Given the description of an element on the screen output the (x, y) to click on. 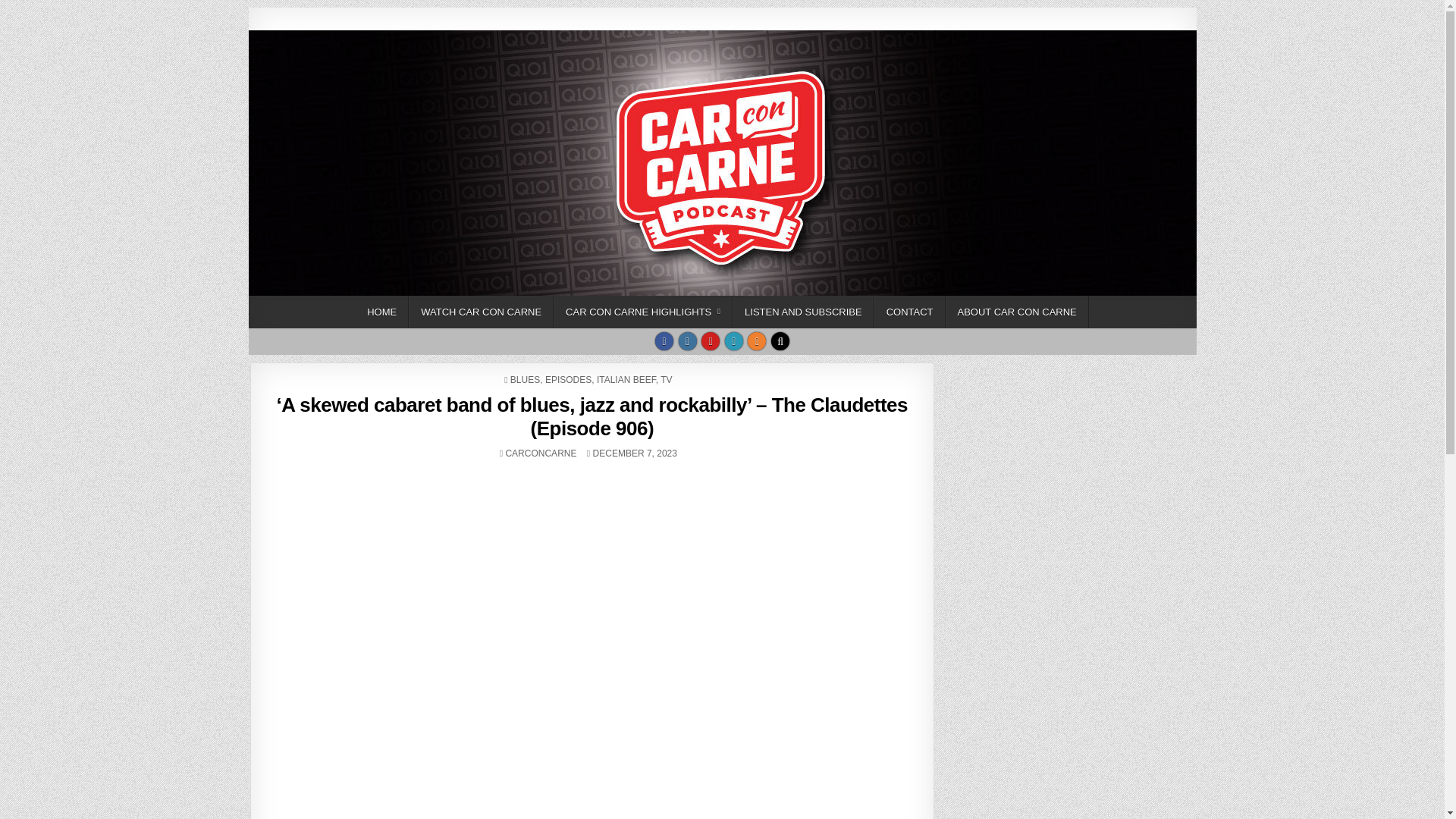
HOME (382, 311)
WATCH CAR CON CARNE (481, 311)
ABOUT CAR CON CARNE (1016, 311)
Email Us (733, 341)
CONTACT (909, 311)
ITALIAN BEEF (626, 379)
Search (780, 341)
Instagram (687, 341)
EPISODES (567, 379)
RSS (756, 341)
Youtube (710, 341)
TV (666, 379)
CAR CON CARNE HIGHLIGHTS (642, 311)
BLUES (525, 379)
